Given the description of an element on the screen output the (x, y) to click on. 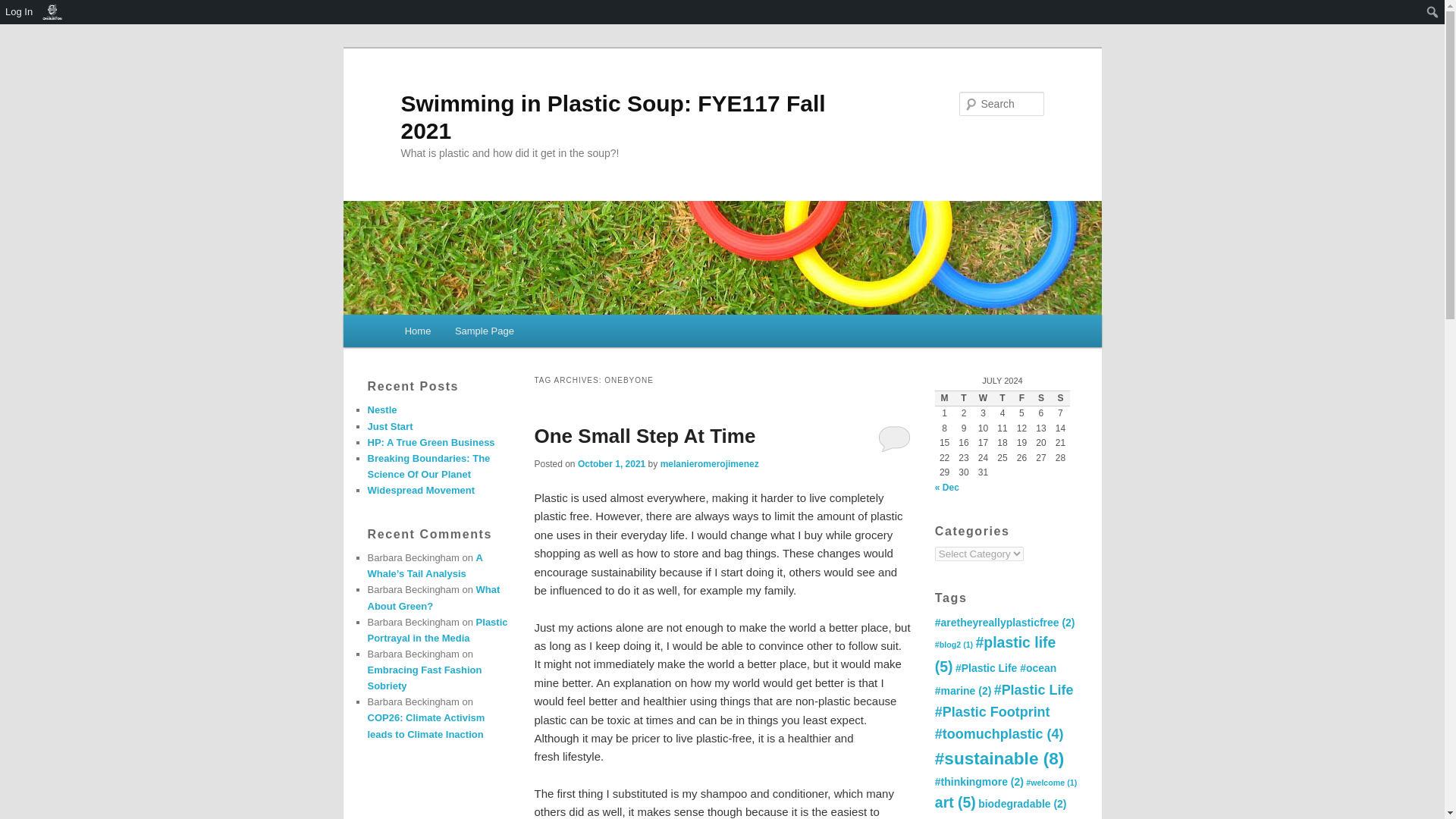
Saturday (1039, 398)
melanieromerojimenez (709, 463)
Friday (1020, 398)
Swimming in Plastic Soup: FYE117 Fall 2021 (612, 116)
Monday (943, 398)
Skip to primary content (472, 333)
Wednesday (983, 398)
October 1, 2021 (611, 463)
Thursday (1001, 398)
Permalink to One Small Step At Time (644, 436)
